Given the description of an element on the screen output the (x, y) to click on. 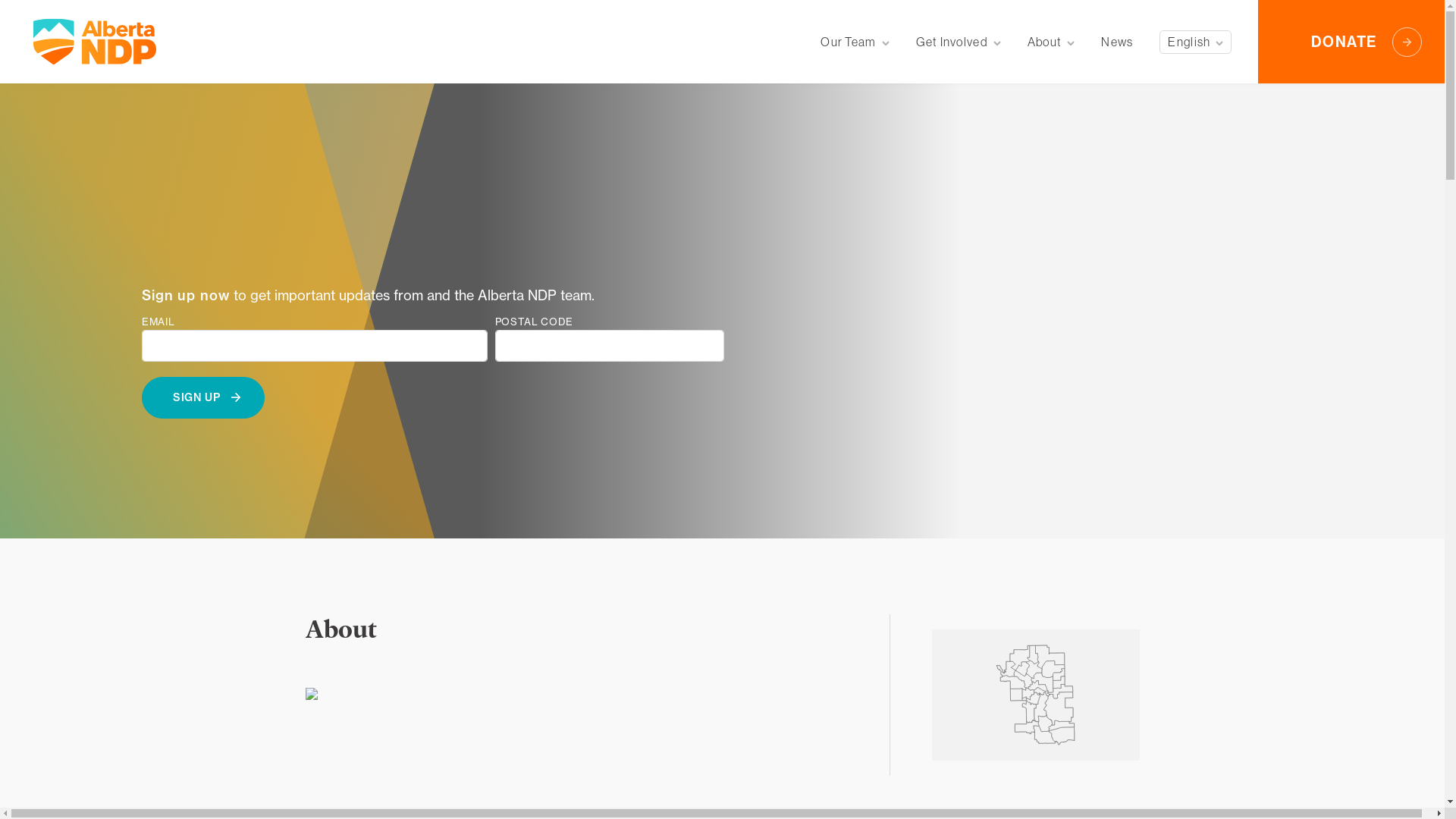
SIGN UP Element type: text (202, 397)
English Element type: text (1195, 41)
DONATE Element type: text (1351, 41)
News Element type: text (1116, 41)
Get Involved Element type: text (958, 41)
About Element type: text (1050, 41)
Our Team Element type: text (854, 41)
